Given the description of an element on the screen output the (x, y) to click on. 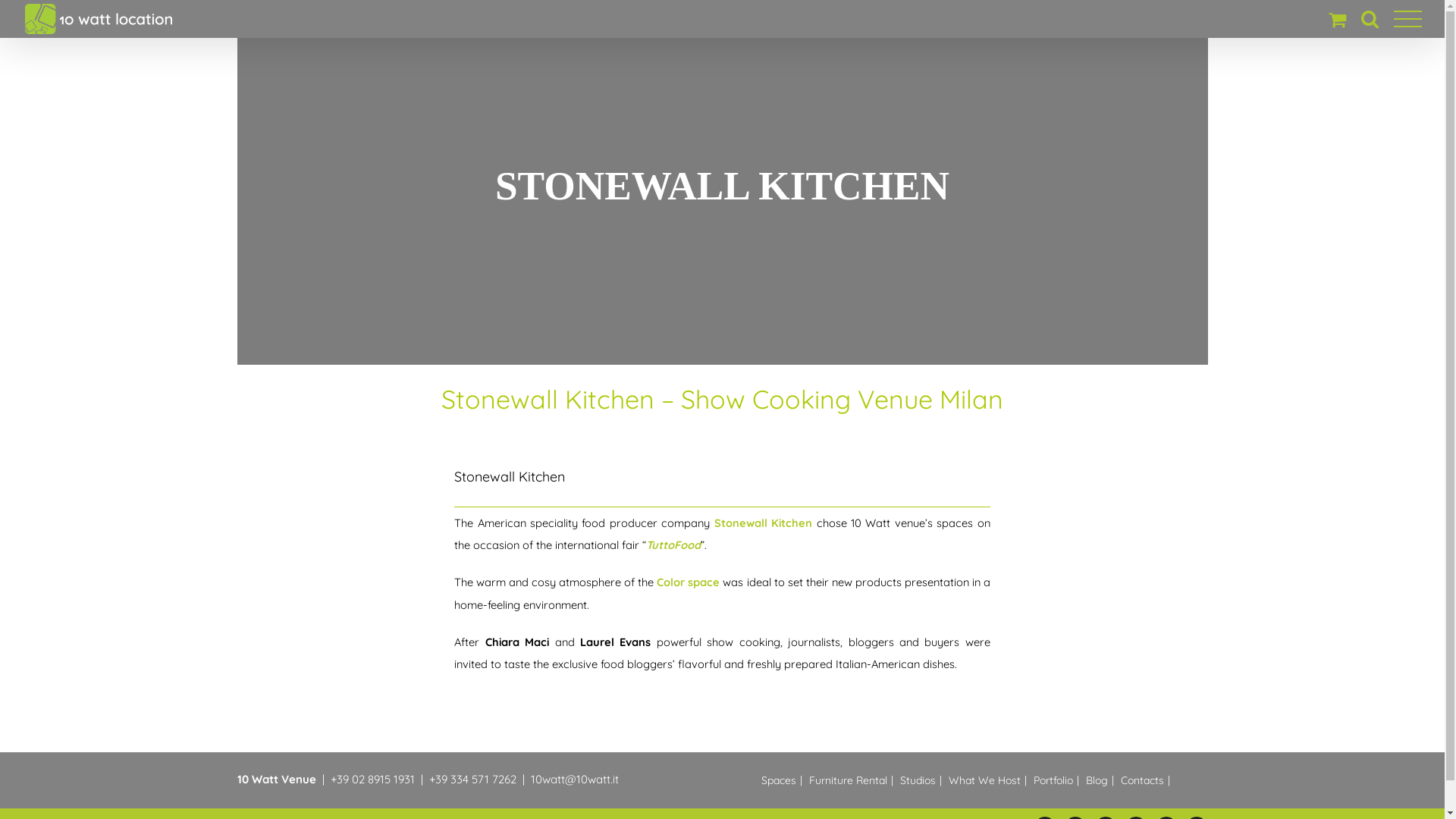
TuttoFood Element type: text (673, 544)
Contacts Element type: text (1147, 780)
Spaces Element type: text (783, 780)
Stonewall Kitchen Element type: text (763, 522)
10 Watt Venue Element type: text (275, 778)
Blog Element type: text (1101, 780)
Studios Element type: text (921, 780)
Furniture Rental Element type: text (851, 780)
10watt@10watt.it Element type: text (574, 778)
+39 02 8915 1931 Element type: text (372, 778)
Color space Element type: text (687, 581)
+39 334 571 7262 Element type: text (472, 778)
What We Host Element type: text (988, 780)
Portfolio Element type: text (1057, 780)
